Given the description of an element on the screen output the (x, y) to click on. 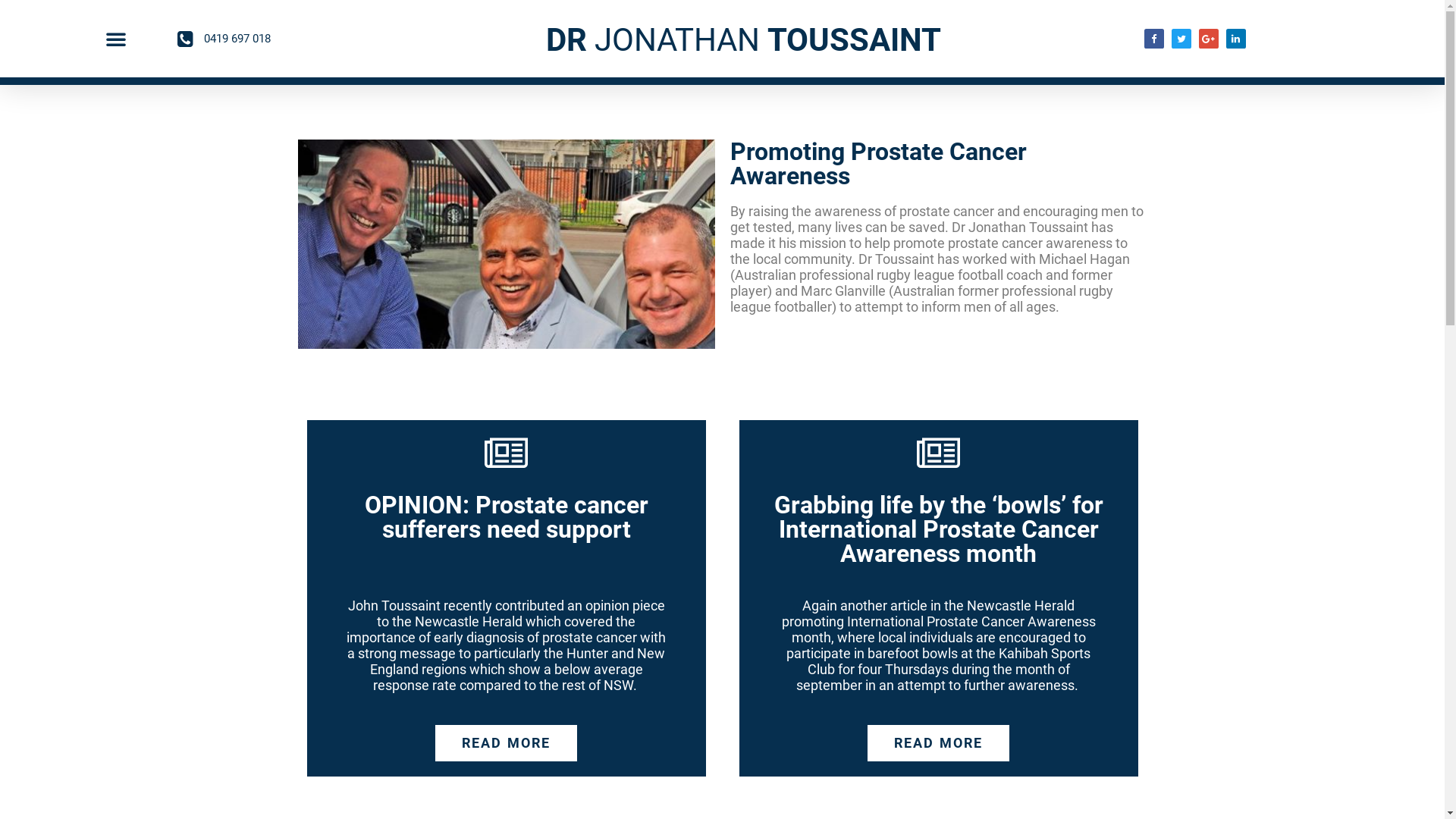
0419 697 018 Element type: text (290, 38)
Media - Element type: hover (505, 243)
READ MORE Element type: text (506, 742)
READ MORE Element type: text (938, 742)
